Given the description of an element on the screen output the (x, y) to click on. 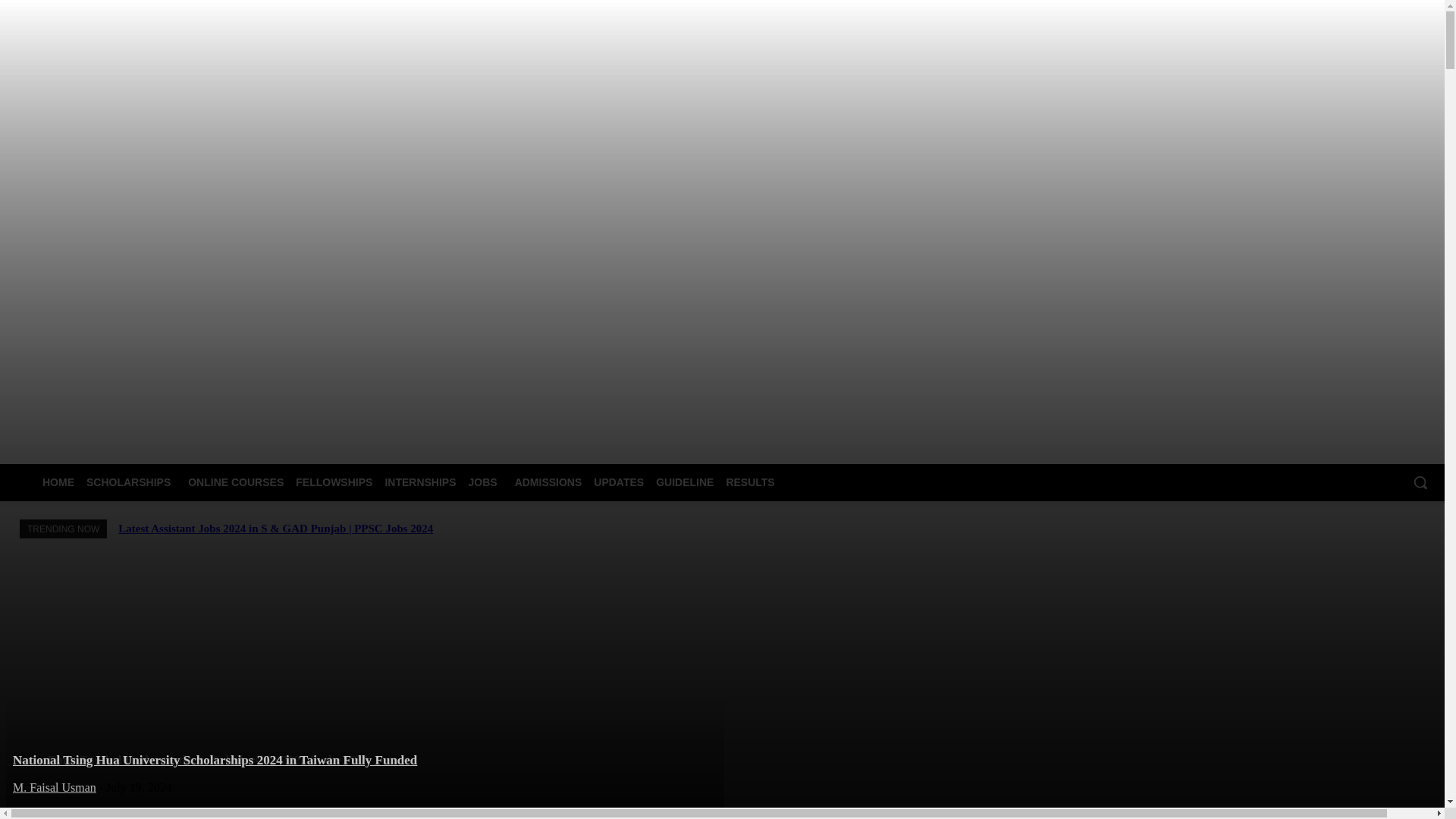
FELLOWSHIPS (333, 482)
HOME (58, 482)
Facebook (1345, 378)
ONLINE COURSES (235, 482)
Instagram (1366, 378)
SCHOLARSHIPS (131, 482)
Linkedin (1387, 378)
Telegram (1429, 378)
Pinterest (1407, 378)
INTERNSHIPS (419, 482)
